Given the description of an element on the screen output the (x, y) to click on. 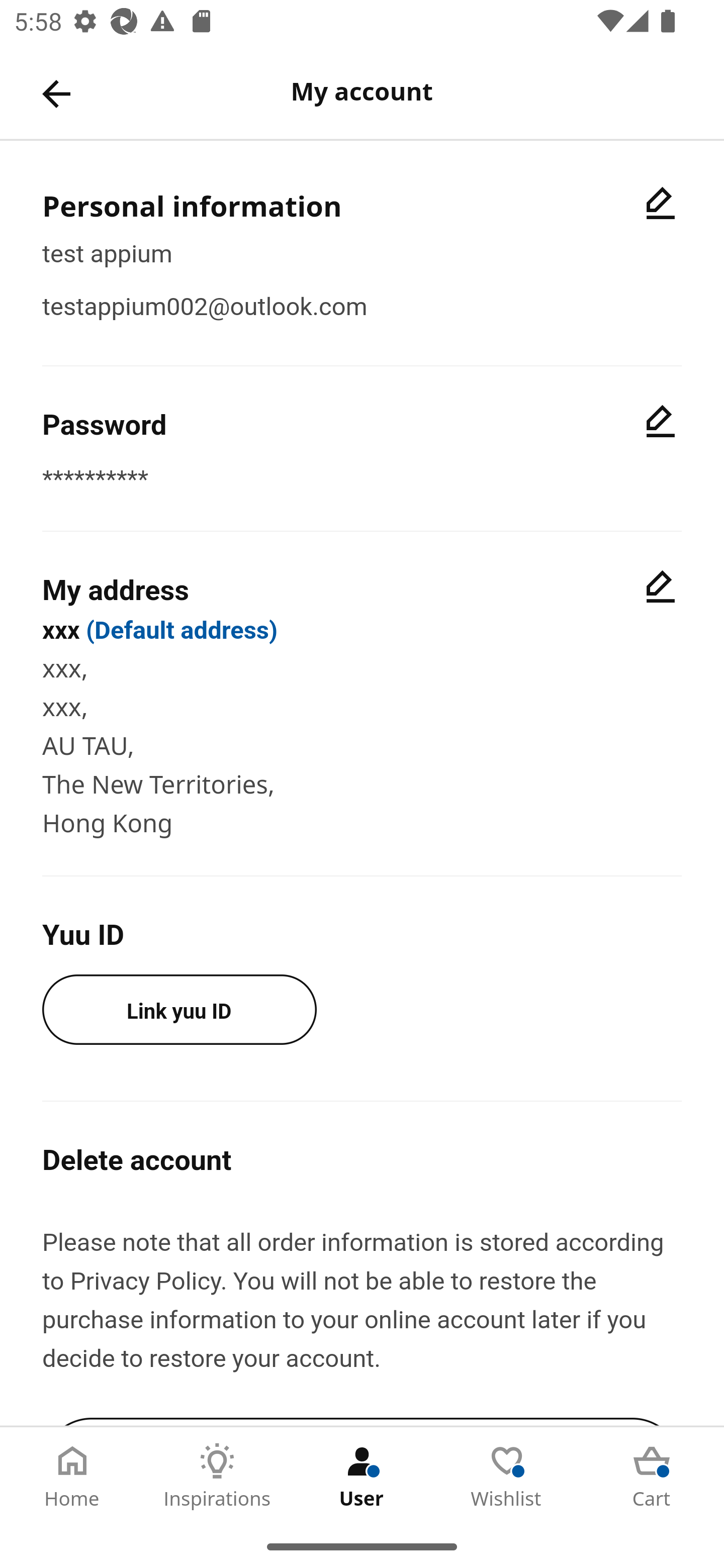
Link yuu ID (179, 1008)
Home
Tab 1 of 5 (72, 1476)
Inspirations
Tab 2 of 5 (216, 1476)
User
Tab 3 of 5 (361, 1476)
Wishlist
Tab 4 of 5 (506, 1476)
Cart
Tab 5 of 5 (651, 1476)
